Given the description of an element on the screen output the (x, y) to click on. 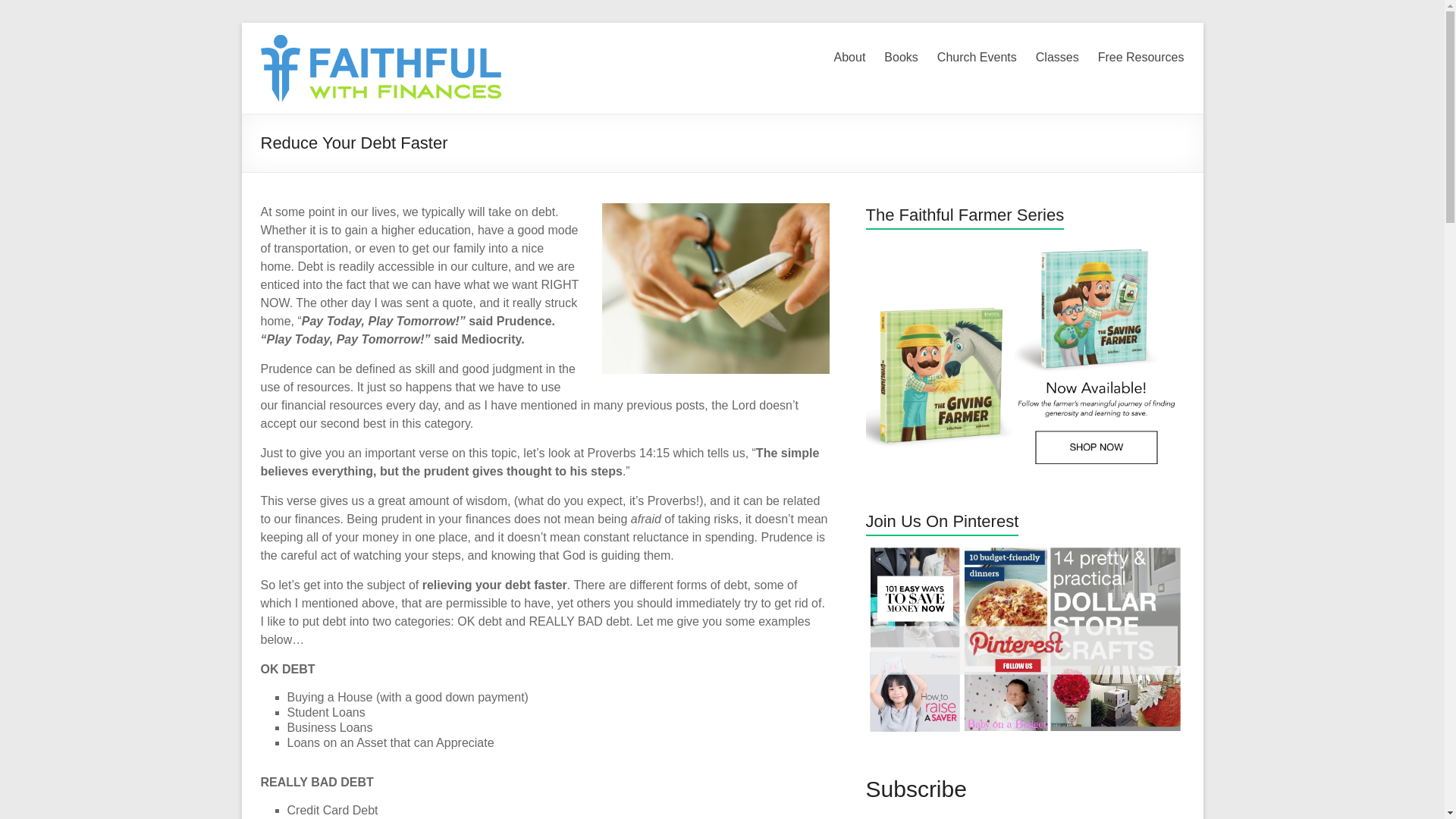
Church Events (976, 54)
About (850, 54)
Faithful with Finances (421, 41)
close-up of human hands cutting a credit card by scissors (715, 288)
Classes (1056, 54)
Free Resources (1141, 54)
Books (900, 54)
